Given the description of an element on the screen output the (x, y) to click on. 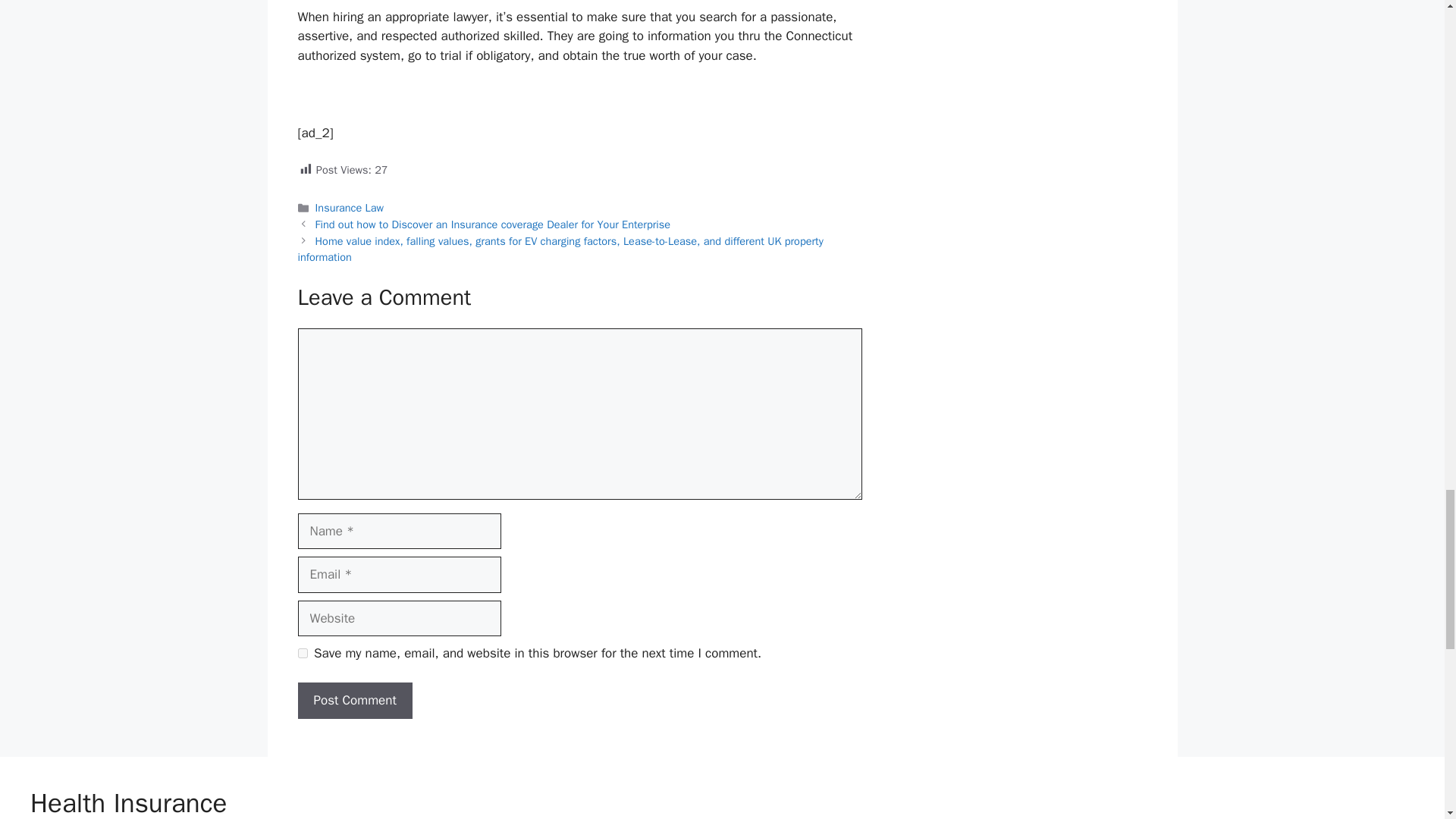
Post Comment (354, 700)
Insurance Law (349, 207)
Post Comment (354, 700)
yes (302, 653)
